Given the description of an element on the screen output the (x, y) to click on. 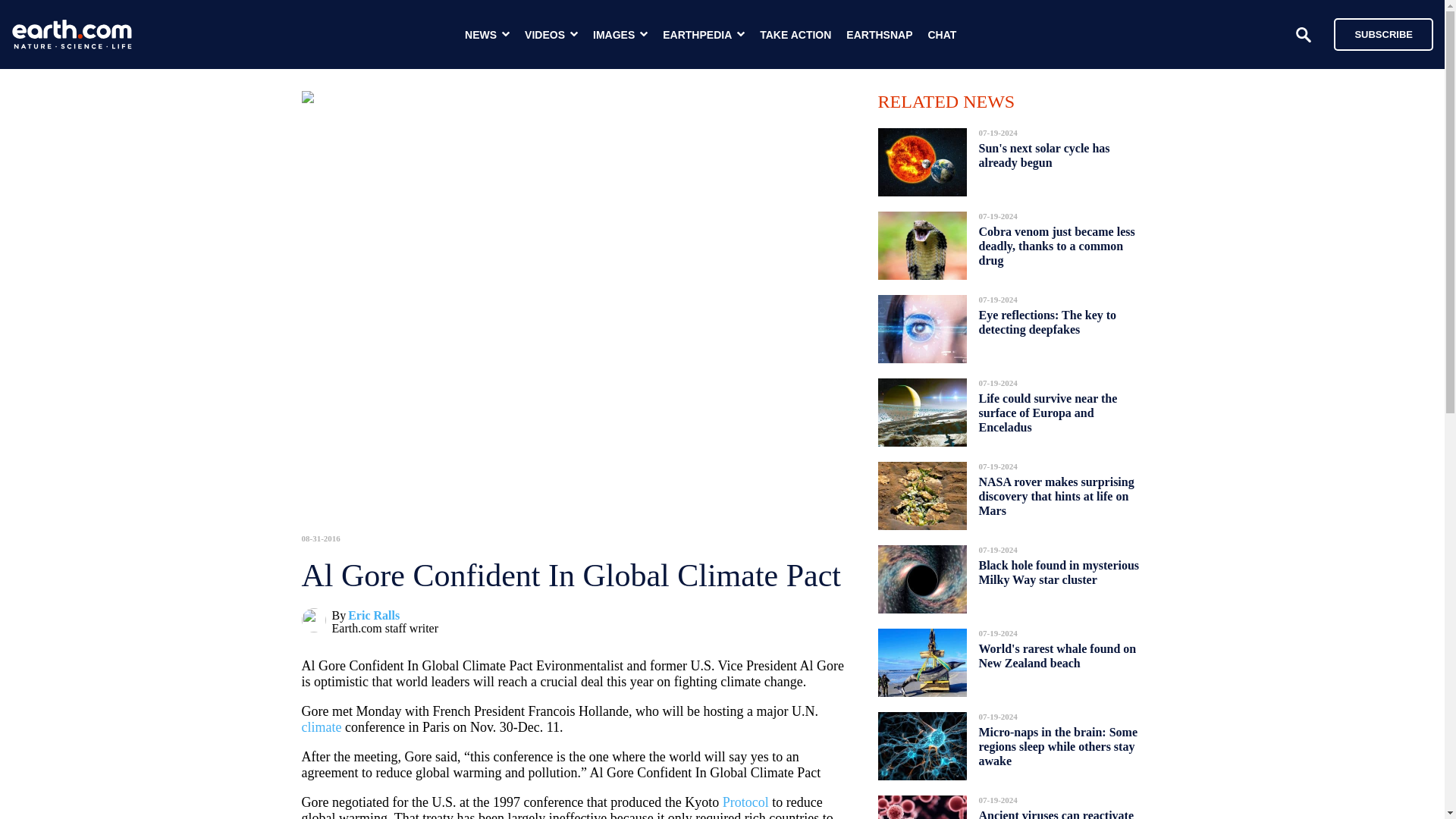
Protocol (745, 801)
Life could survive near the surface of Europa and Enceladus (1047, 412)
World's rarest whale found on New Zealand beach (1056, 655)
Eye reflections: The key to detecting deepfakes (1047, 322)
Cobra venom just became less deadly, thanks to a common drug (1056, 245)
Eric Ralls (372, 615)
climate (321, 726)
Sun's next solar cycle has already begun (1043, 155)
SUBSCRIBE (1375, 33)
TAKE ACTION (795, 34)
EARTHSNAP (878, 34)
SUBSCRIBE (1382, 34)
Ancient viruses can reactivate and fuel cancer development  (1056, 810)
